Given the description of an element on the screen output the (x, y) to click on. 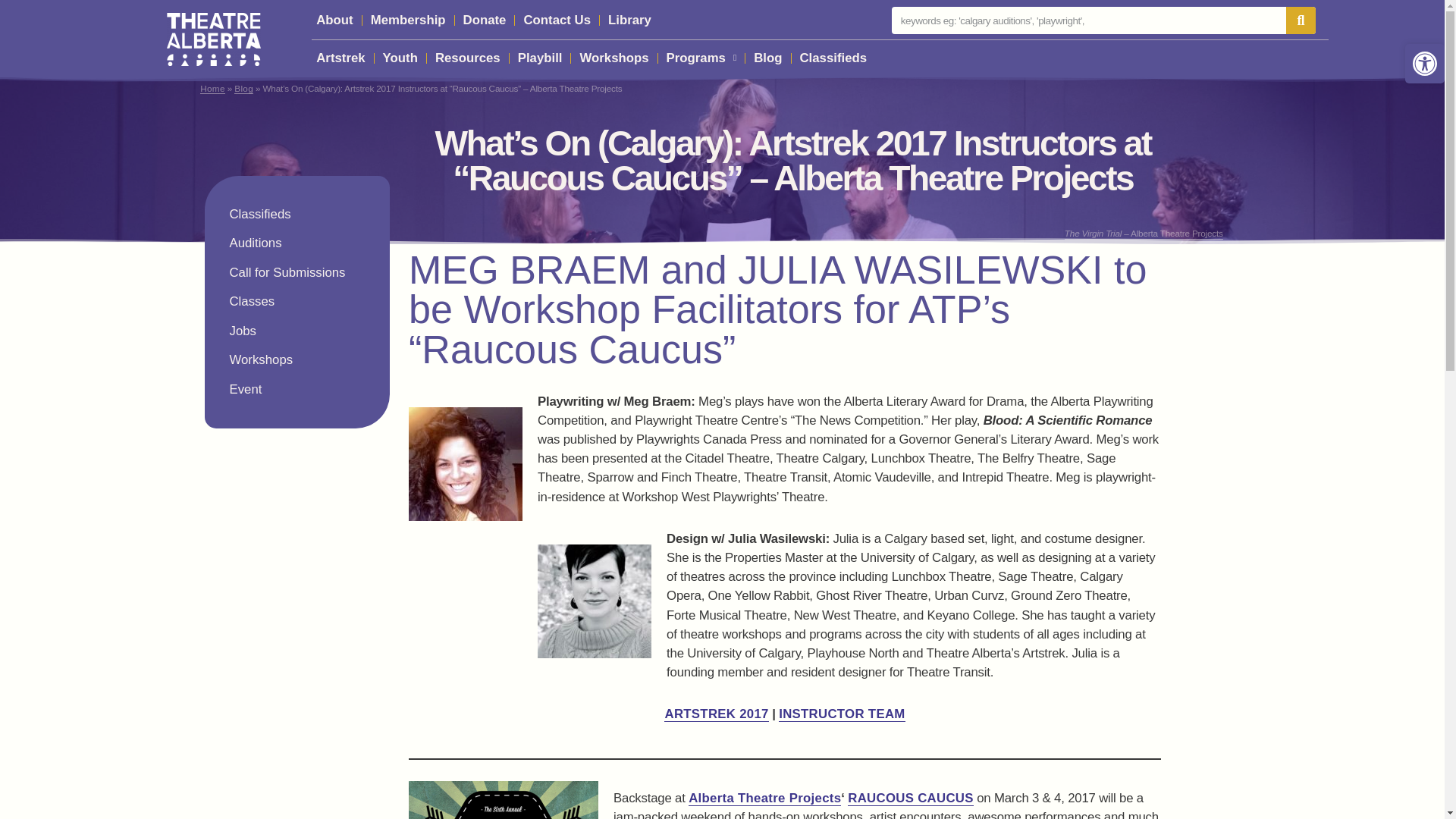
Artstrek (340, 58)
Contact Us (556, 20)
Playbill (540, 58)
Workshops (613, 58)
Skip to content (11, 31)
Programs (701, 58)
Classifieds (832, 58)
Membership (407, 20)
Youth (400, 58)
About (333, 20)
Resources (467, 58)
Blog (767, 58)
Library (630, 20)
Donate (484, 20)
Accessibility Tools (1424, 63)
